Given the description of an element on the screen output the (x, y) to click on. 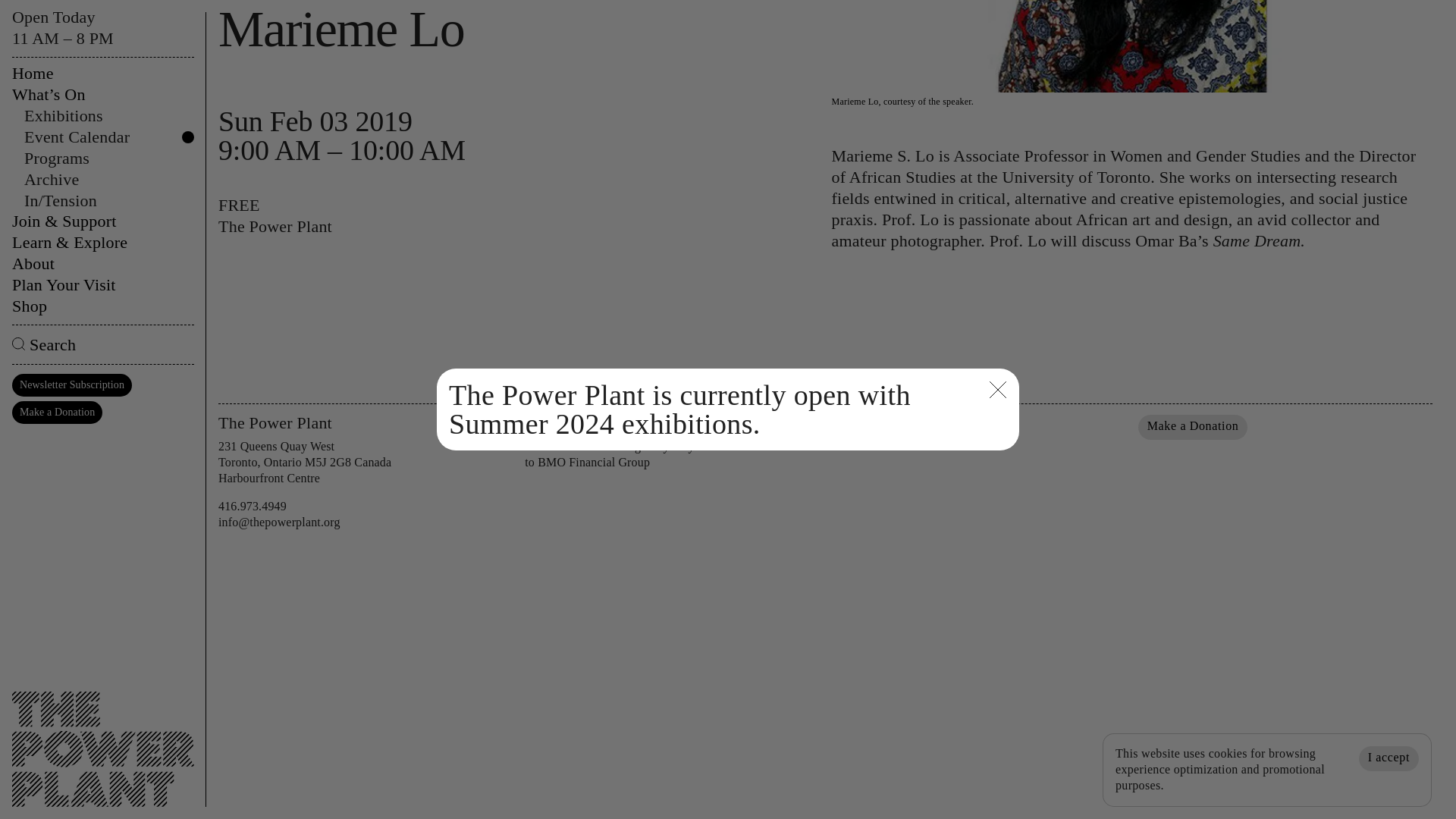
Make a Donation (1192, 426)
Search (102, 48)
Make a Donation (56, 115)
I accept (1388, 462)
Go to the PowerPlant homepage (102, 441)
Newsletter Subscription (71, 87)
Subscribe to our Newsletter (914, 426)
Close the modal (997, 94)
Shop (102, 10)
